Given the description of an element on the screen output the (x, y) to click on. 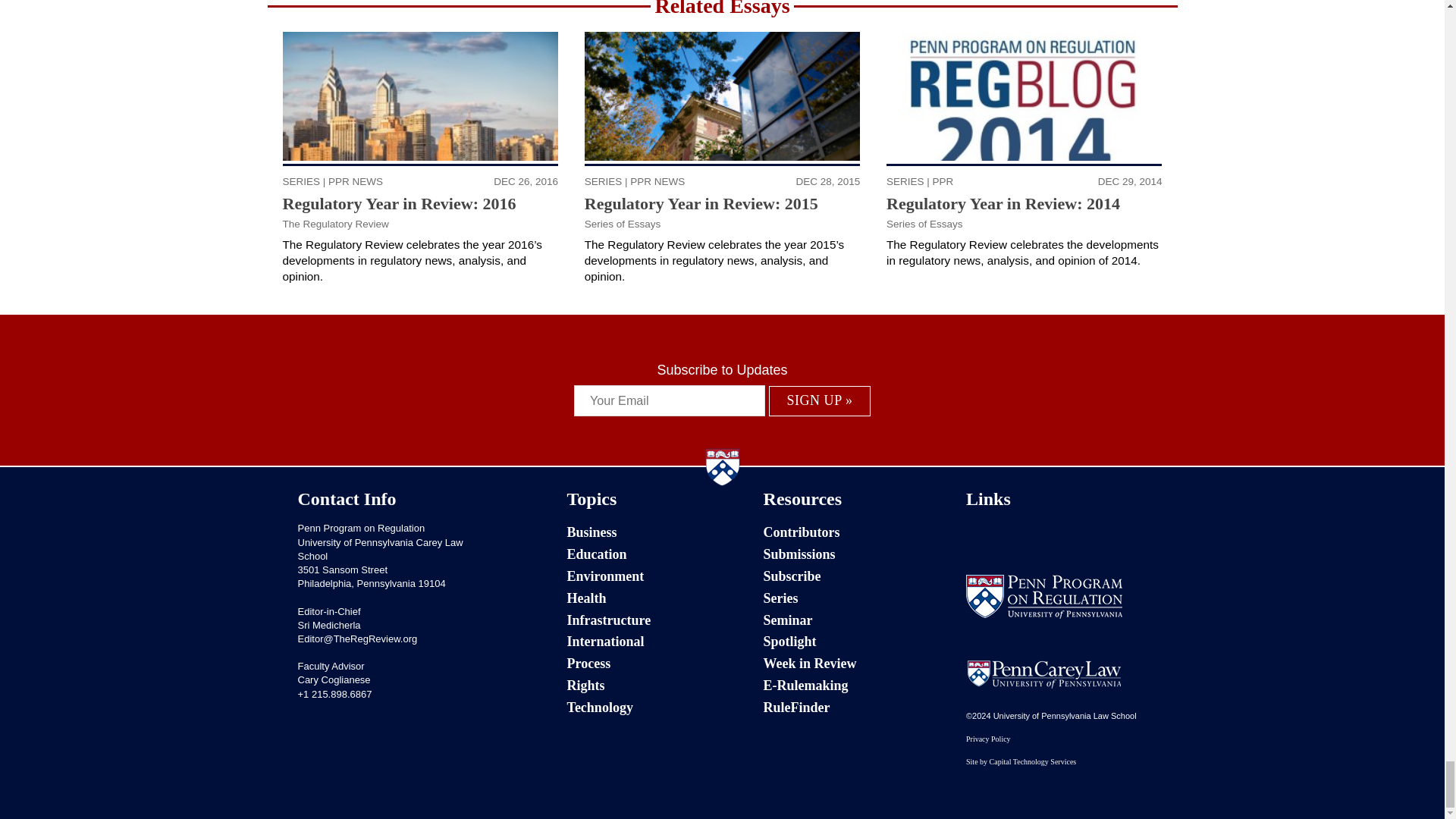
Posts by Series of Essays (924, 224)
Posts by Series of Essays (623, 224)
Posts by The Regulatory Review (335, 224)
